Given the description of an element on the screen output the (x, y) to click on. 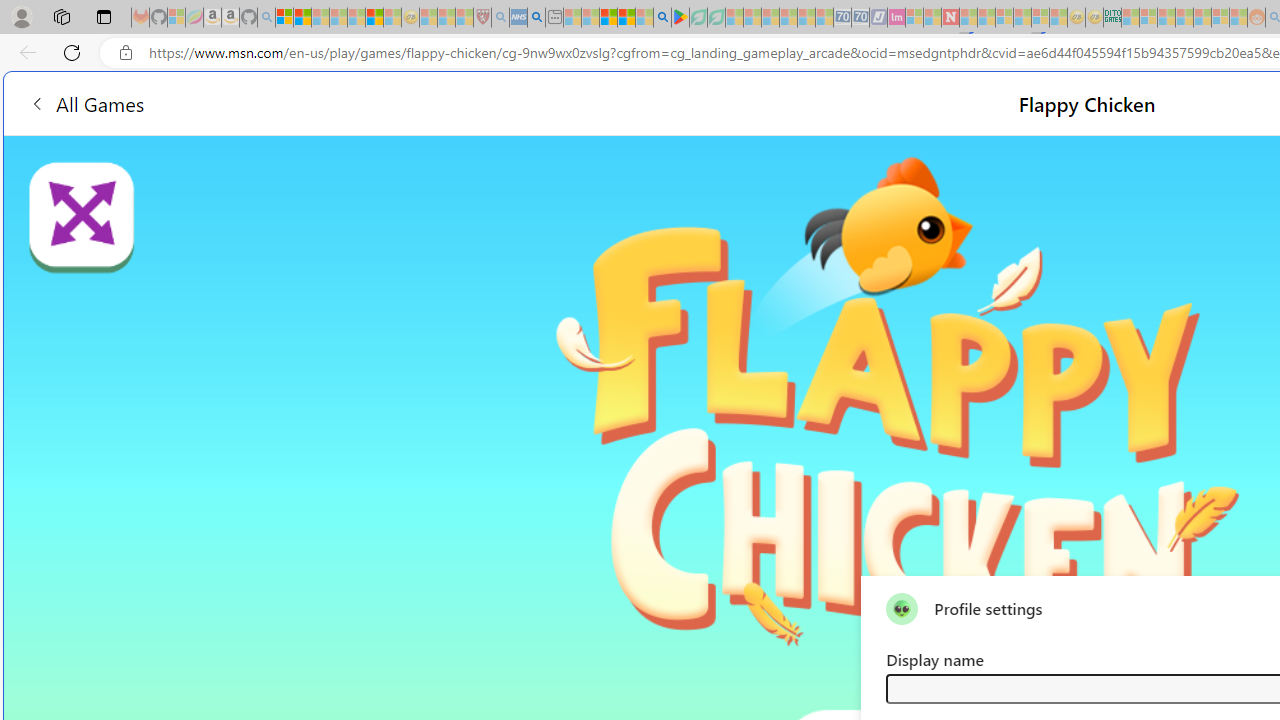
All Games (86, 102)
utah sues federal government - Search (536, 17)
